Given the description of an element on the screen output the (x, y) to click on. 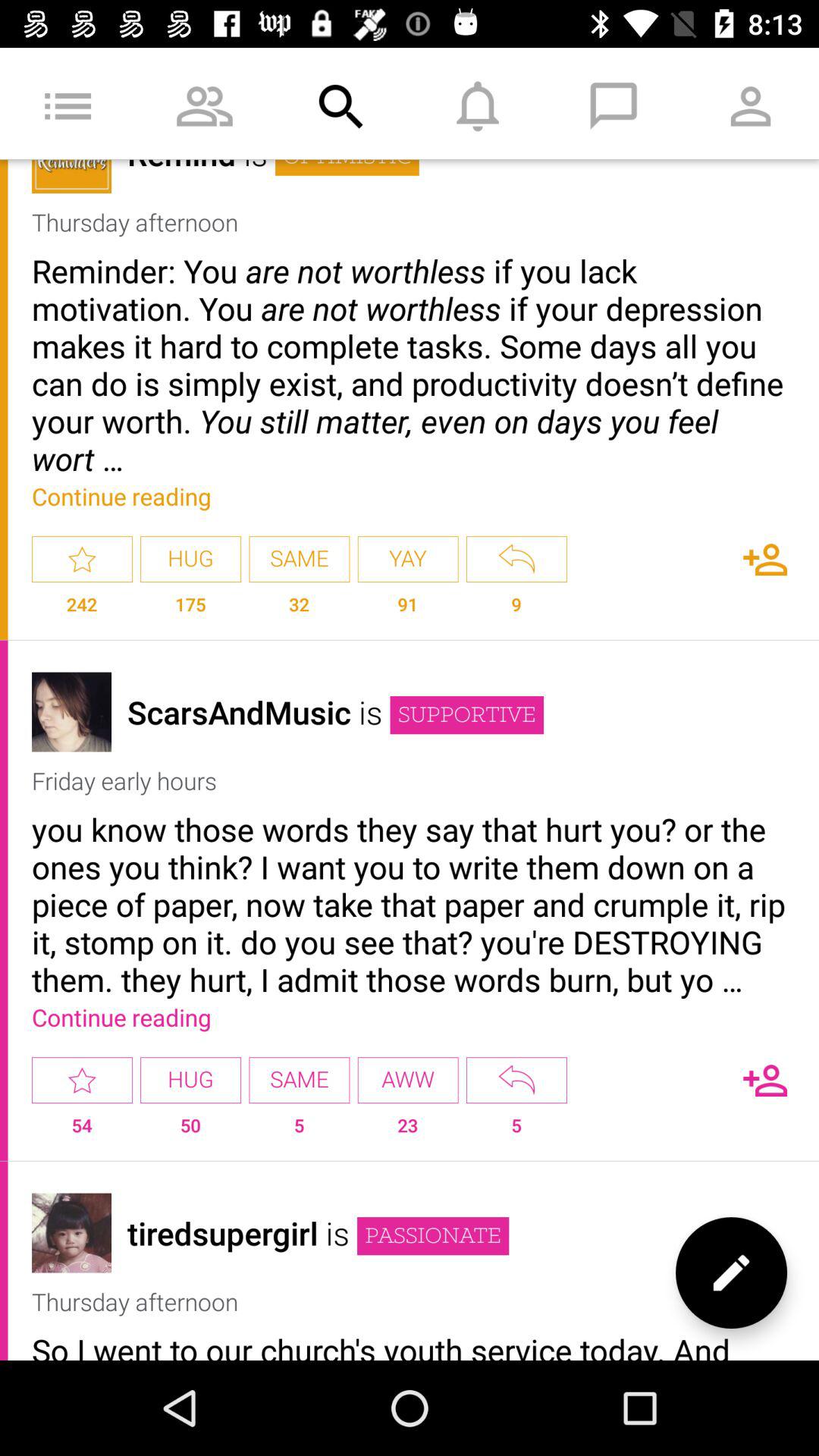
open the icon above the 242 (81, 559)
